Given the description of an element on the screen output the (x, y) to click on. 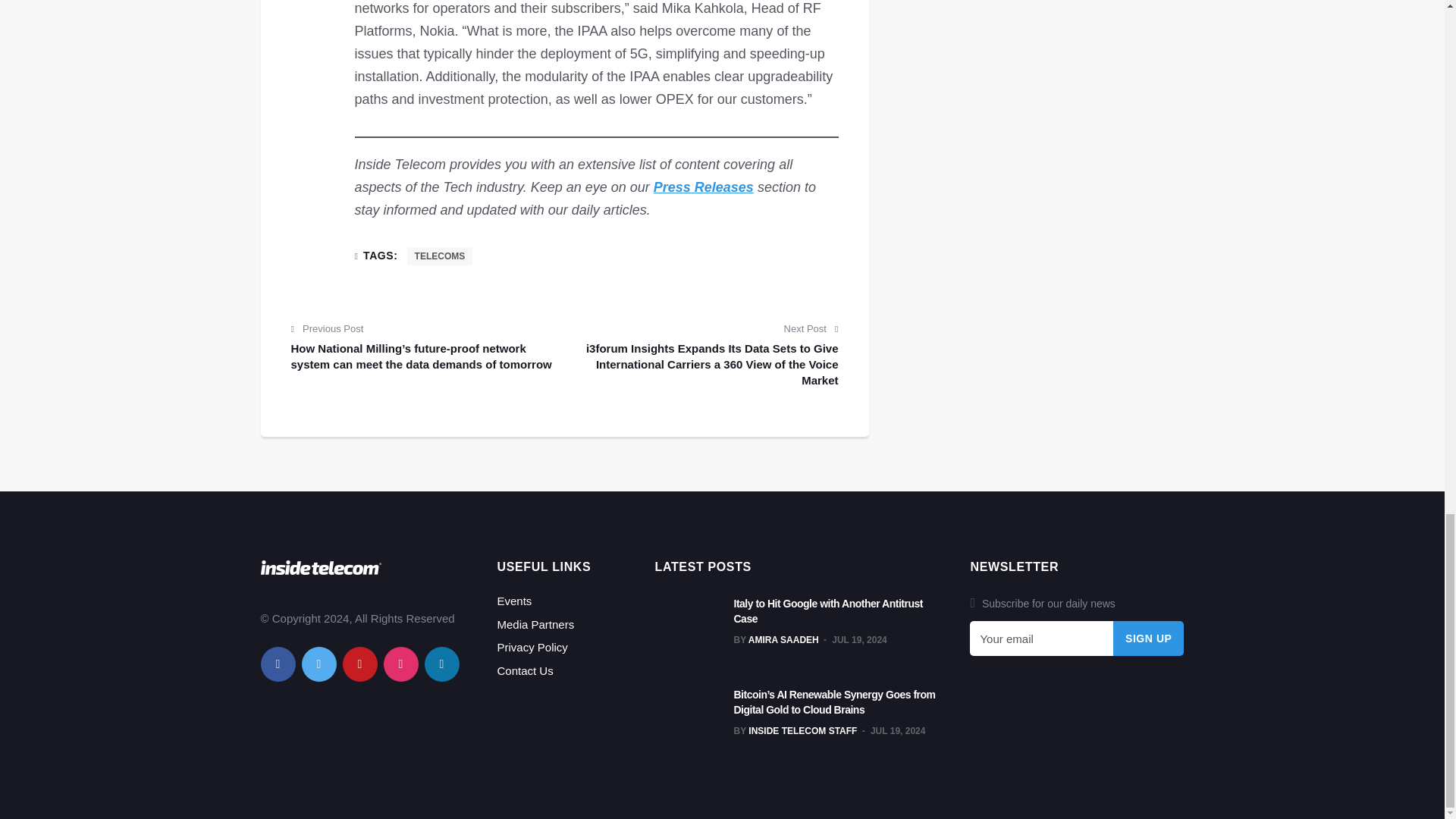
Sign Up (1149, 638)
